Given the description of an element on the screen output the (x, y) to click on. 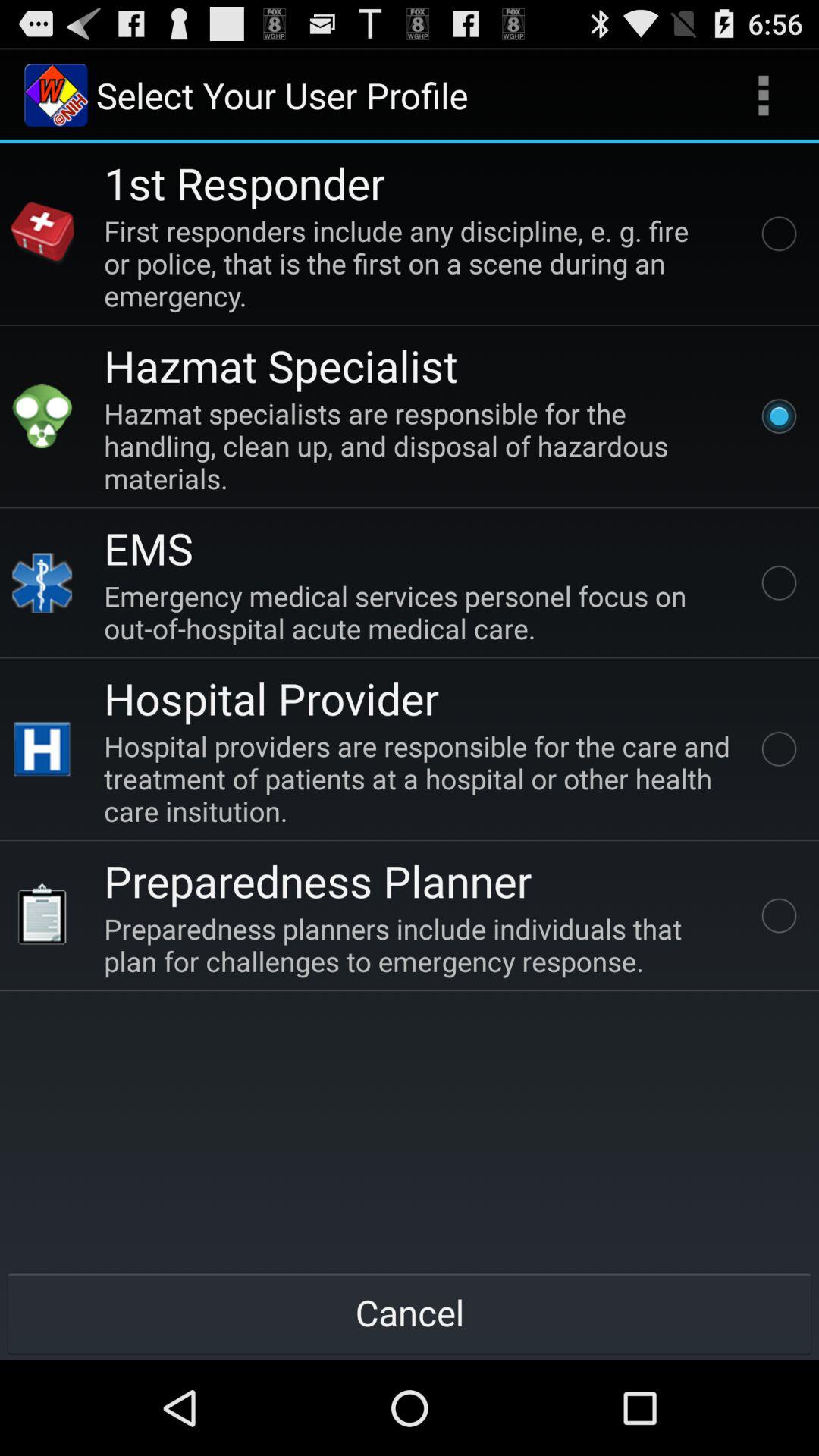
choose the hospital providers are icon (420, 778)
